Given the description of an element on the screen output the (x, y) to click on. 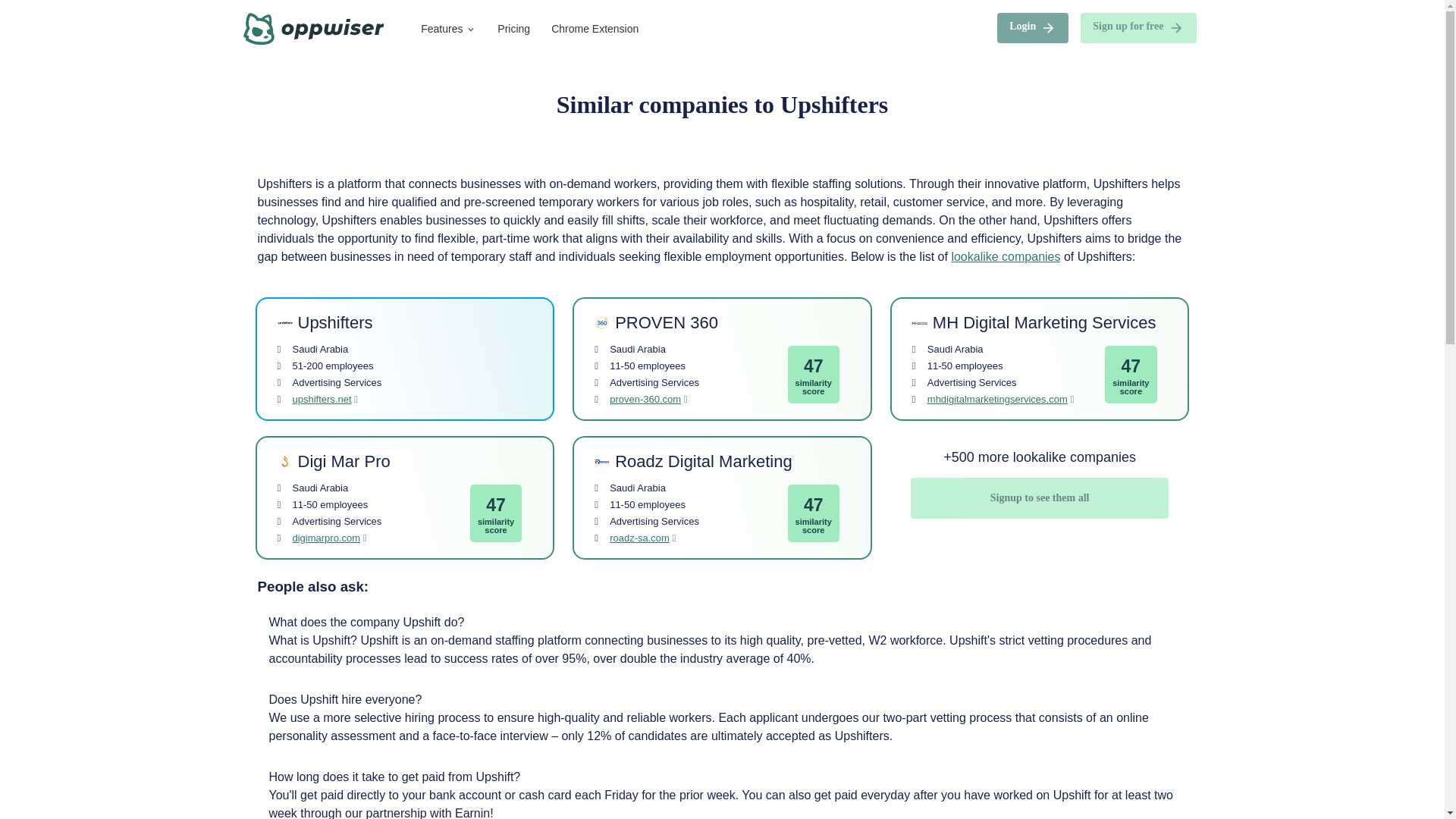
mhdigitalmarketingservices.com (997, 398)
Signup to see them all (1040, 497)
Login (1038, 29)
Pricing (513, 28)
Login (1032, 28)
digimarpro.com (326, 537)
proven-360.com (645, 398)
lookalike companies (1004, 256)
Sign up for free (1137, 29)
roadz-sa.com (639, 537)
Chrome Extension (594, 28)
Features (448, 28)
Sign up for free (1137, 28)
upshifters.net (322, 398)
